Given the description of an element on the screen output the (x, y) to click on. 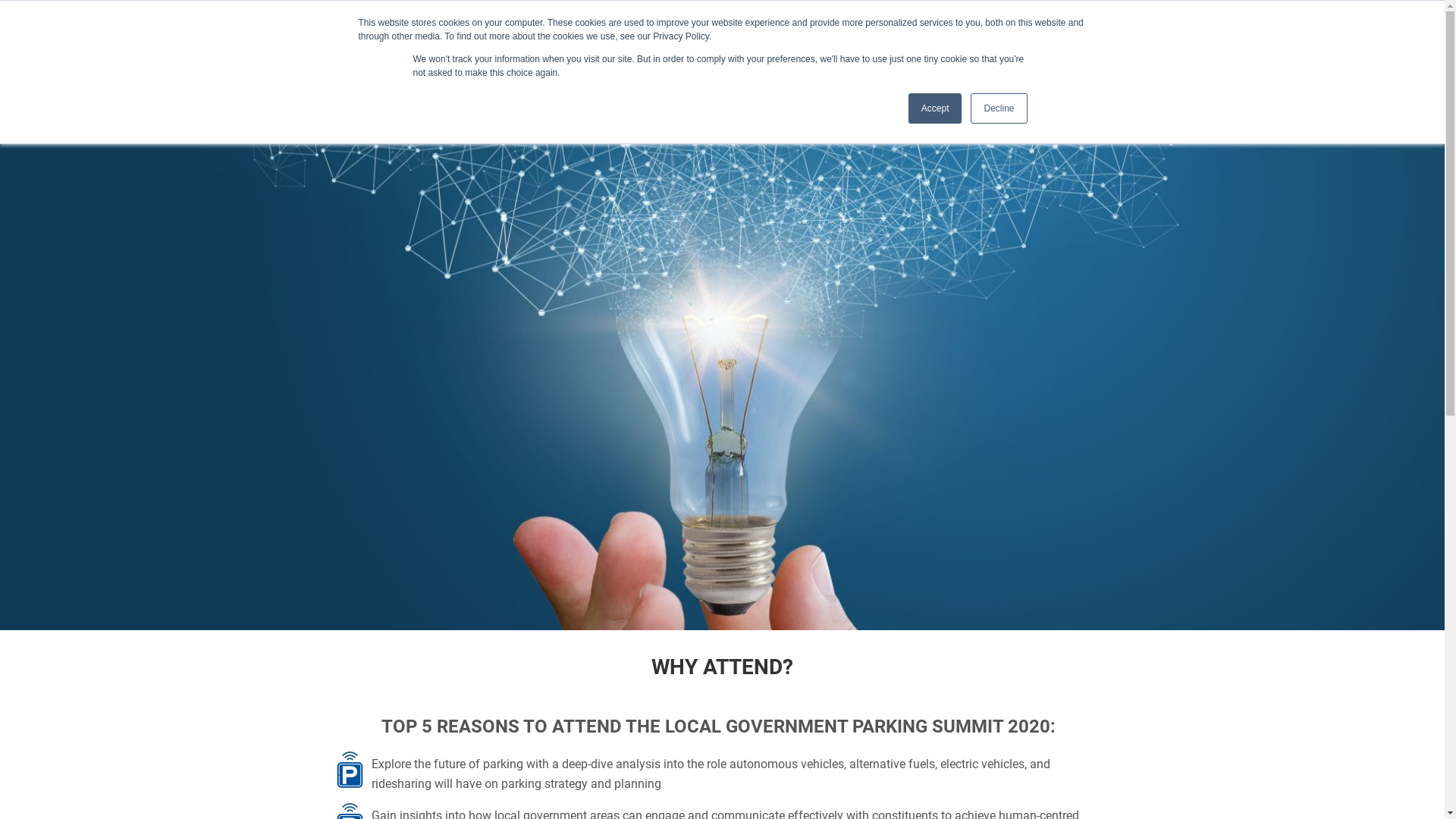
Accept Element type: text (935, 108)
SPEAKERS Element type: text (997, 79)
ATTEND Element type: text (1245, 79)
REGISTER Element type: text (1308, 79)
PARTNERS Element type: text (1181, 79)
Decline Element type: text (998, 108)
SPONSOR/PARTNER Element type: text (1089, 79)
HOME Element type: text (877, 79)
AGENDA Element type: text (932, 79)
Home Element type: hover (116, 51)
